Given the description of an element on the screen output the (x, y) to click on. 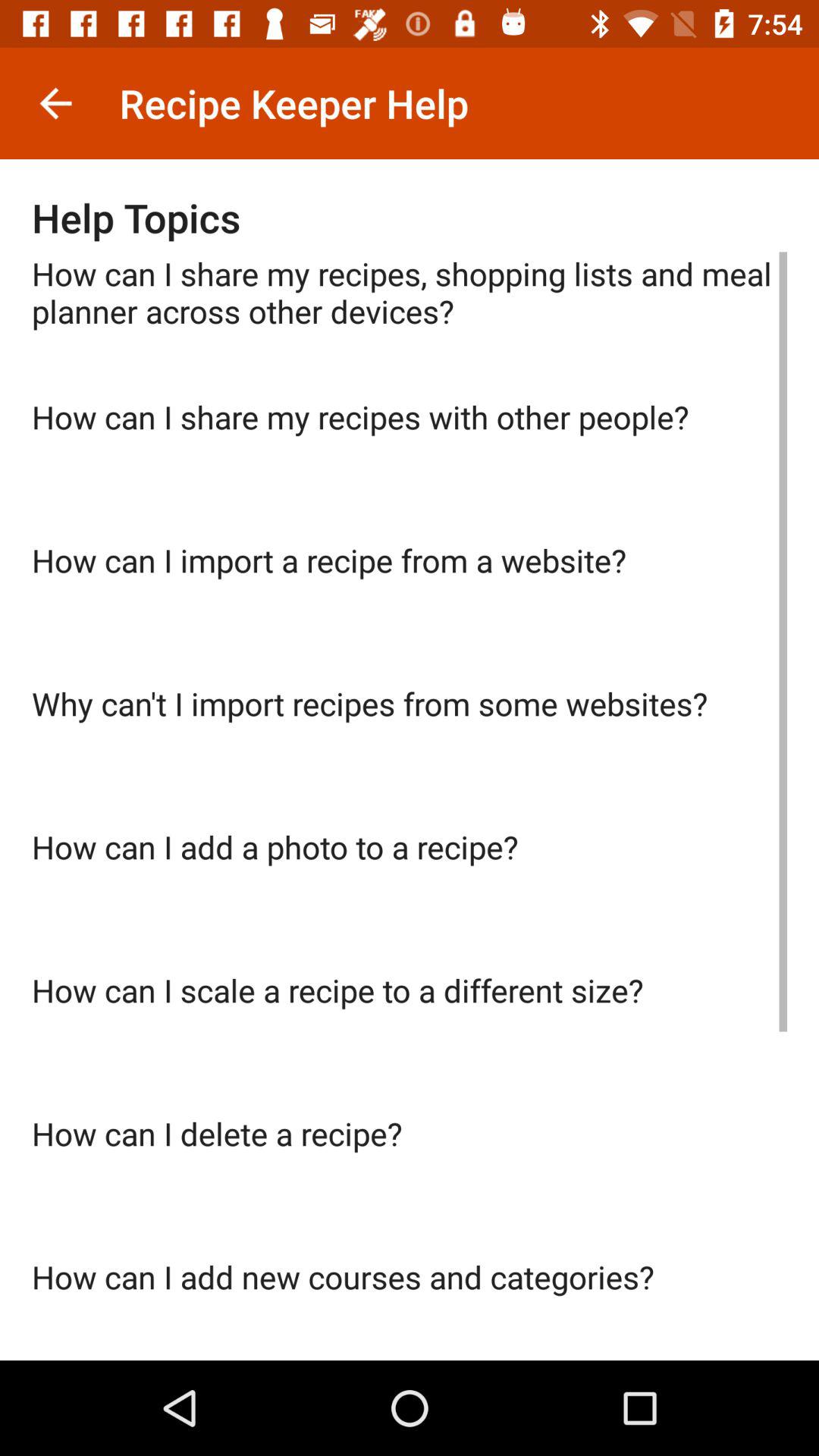
press the item above the help topics icon (55, 103)
